Given the description of an element on the screen output the (x, y) to click on. 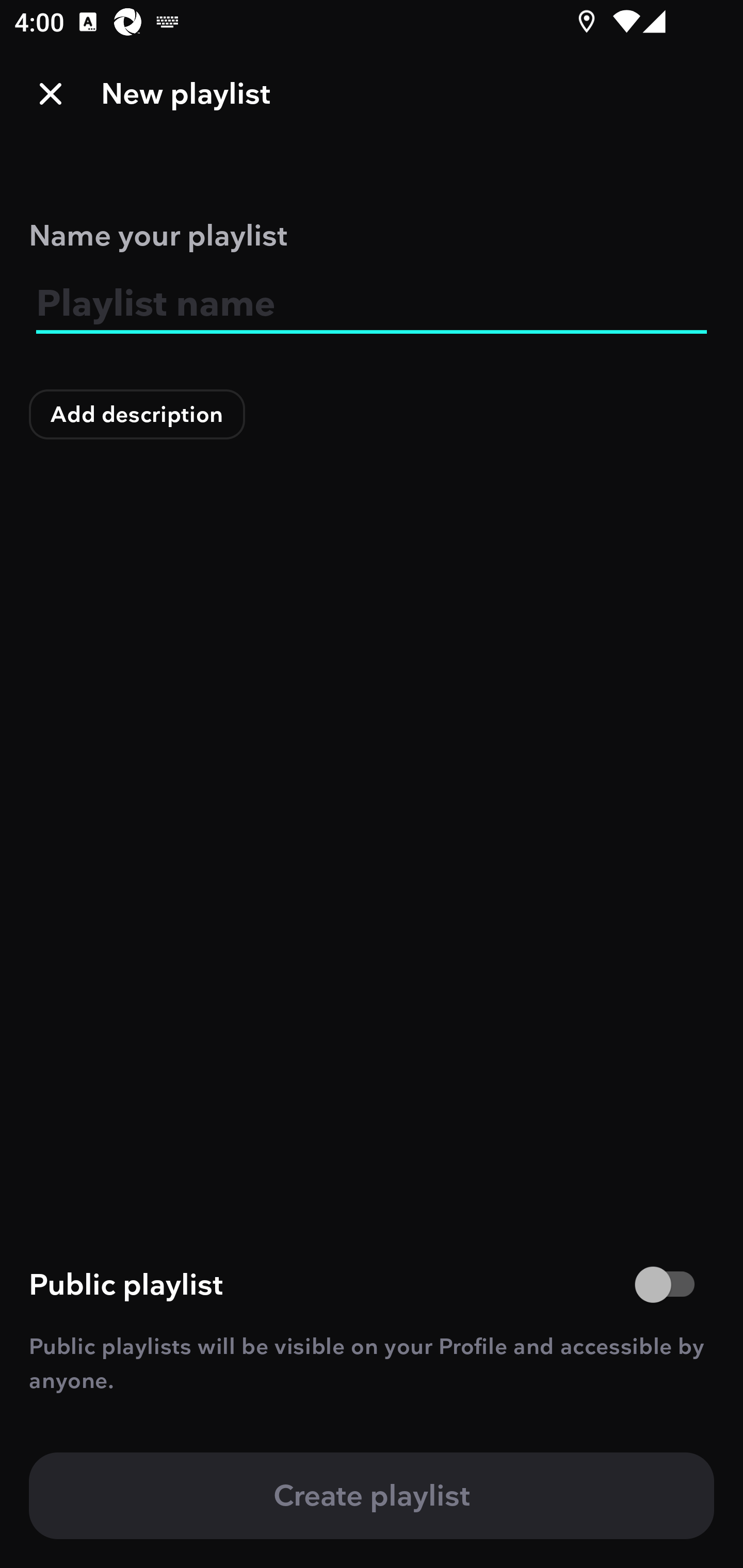
Back (50, 93)
Playlist name (371, 303)
Add description (136, 413)
Create playlist (371, 1495)
